Given the description of an element on the screen output the (x, y) to click on. 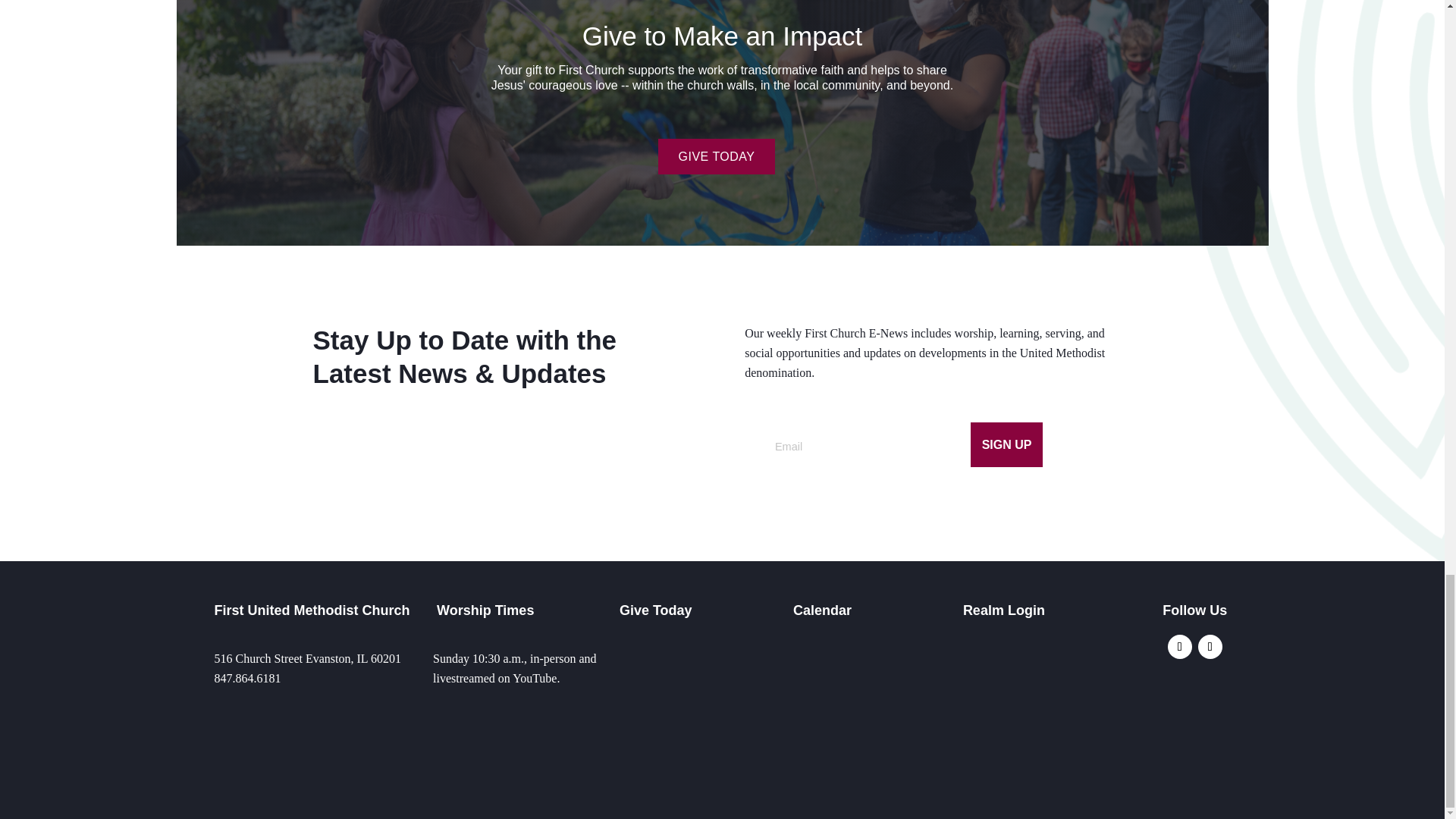
Follow on Facebook (1210, 646)
Follow on Instagram (1179, 646)
